Given the description of an element on the screen output the (x, y) to click on. 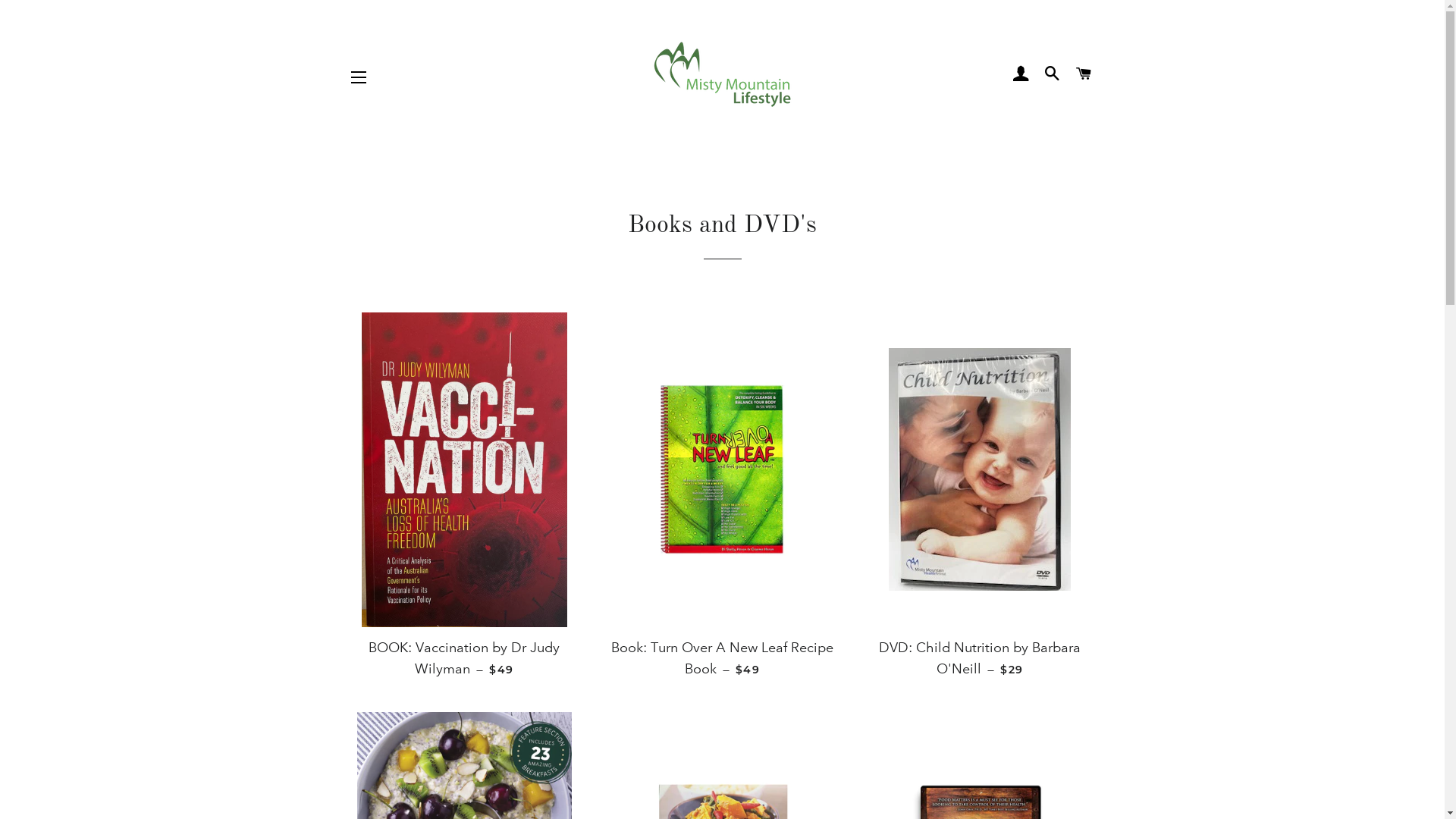
SITE NAVIGATION Element type: text (358, 77)
SEARCH Element type: text (1052, 73)
LOG IN Element type: text (1021, 73)
CART Element type: text (1083, 73)
